Given the description of an element on the screen output the (x, y) to click on. 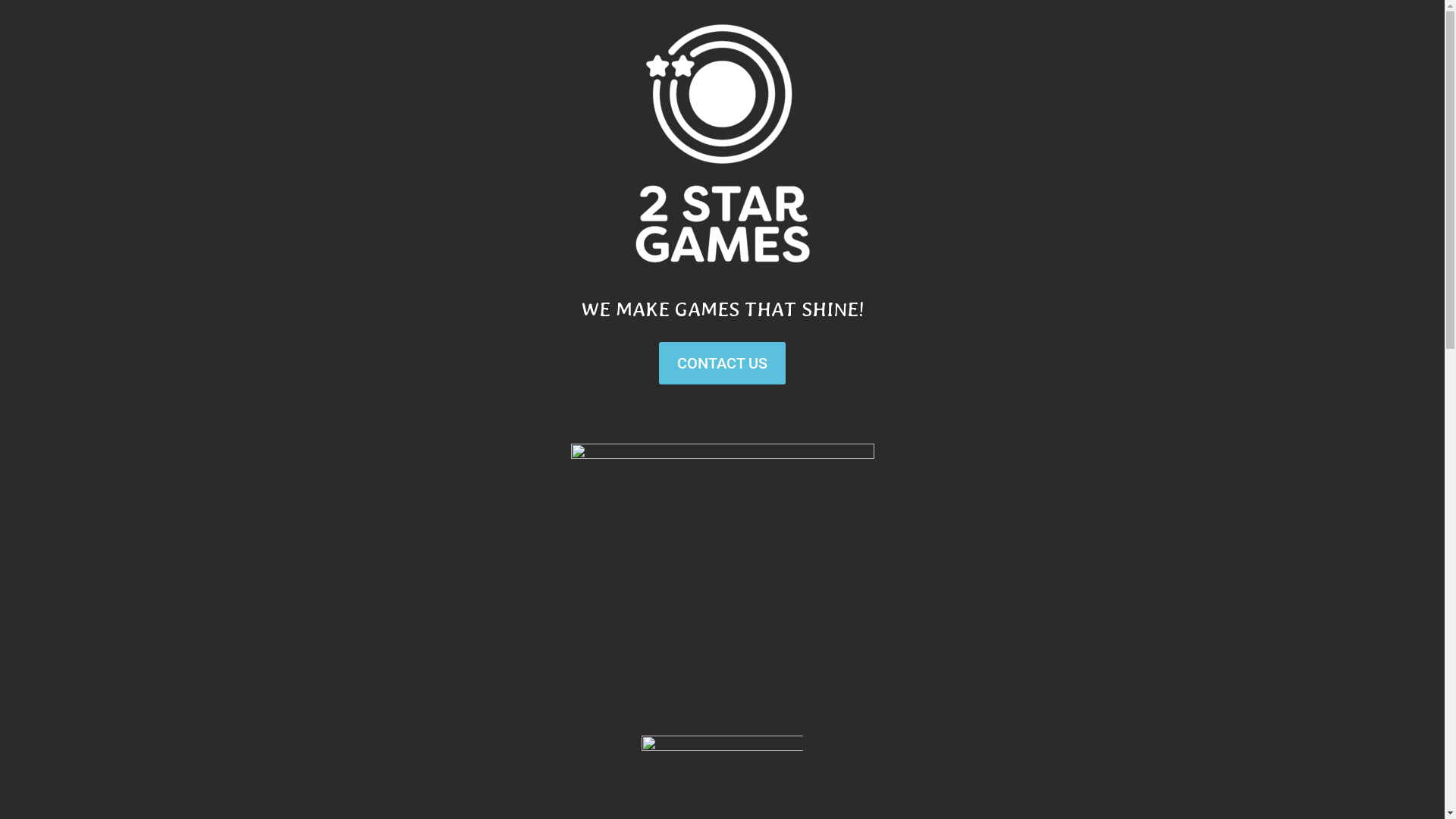
CONTACT US Element type: text (721, 363)
